Given the description of an element on the screen output the (x, y) to click on. 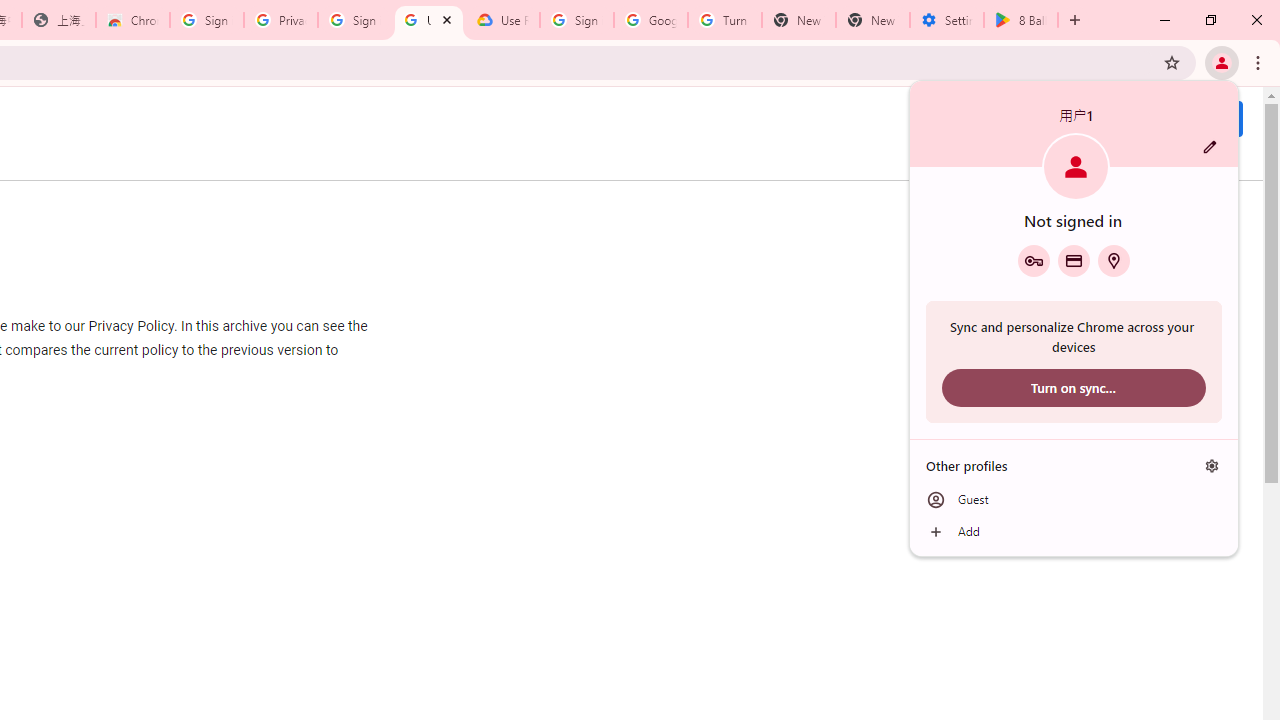
8 Ball Pool - Apps on Google Play (1021, 20)
Chrome Web Store - Color themes by Chrome (133, 20)
Google Account Help (651, 20)
Sign in - Google Accounts (207, 20)
New Tab (872, 20)
Add (1073, 531)
Settings - System (947, 20)
Addresses and more (1114, 260)
